Given the description of an element on the screen output the (x, y) to click on. 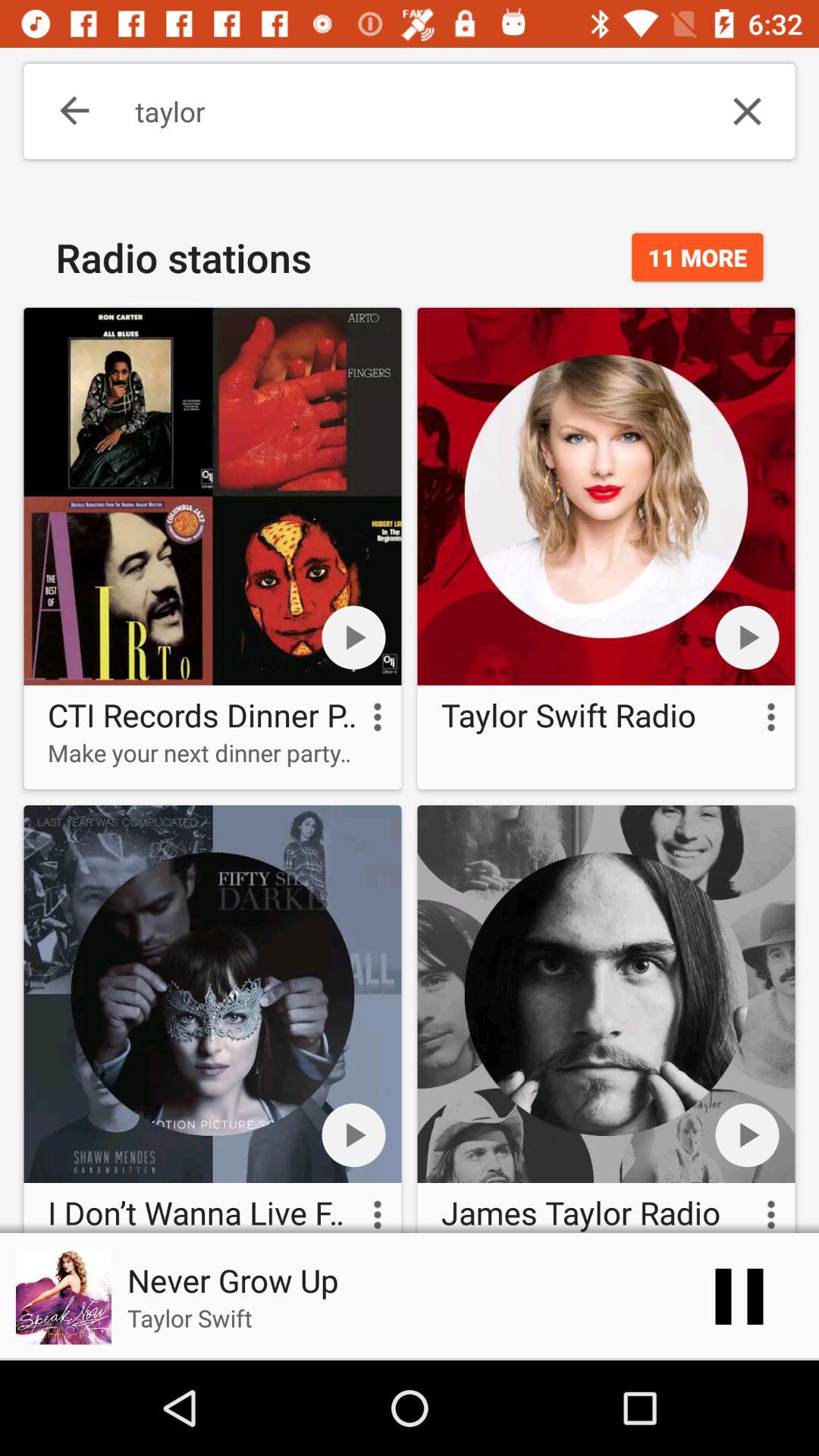
click item to the right of the never grow up icon (739, 1296)
